Given the description of an element on the screen output the (x, y) to click on. 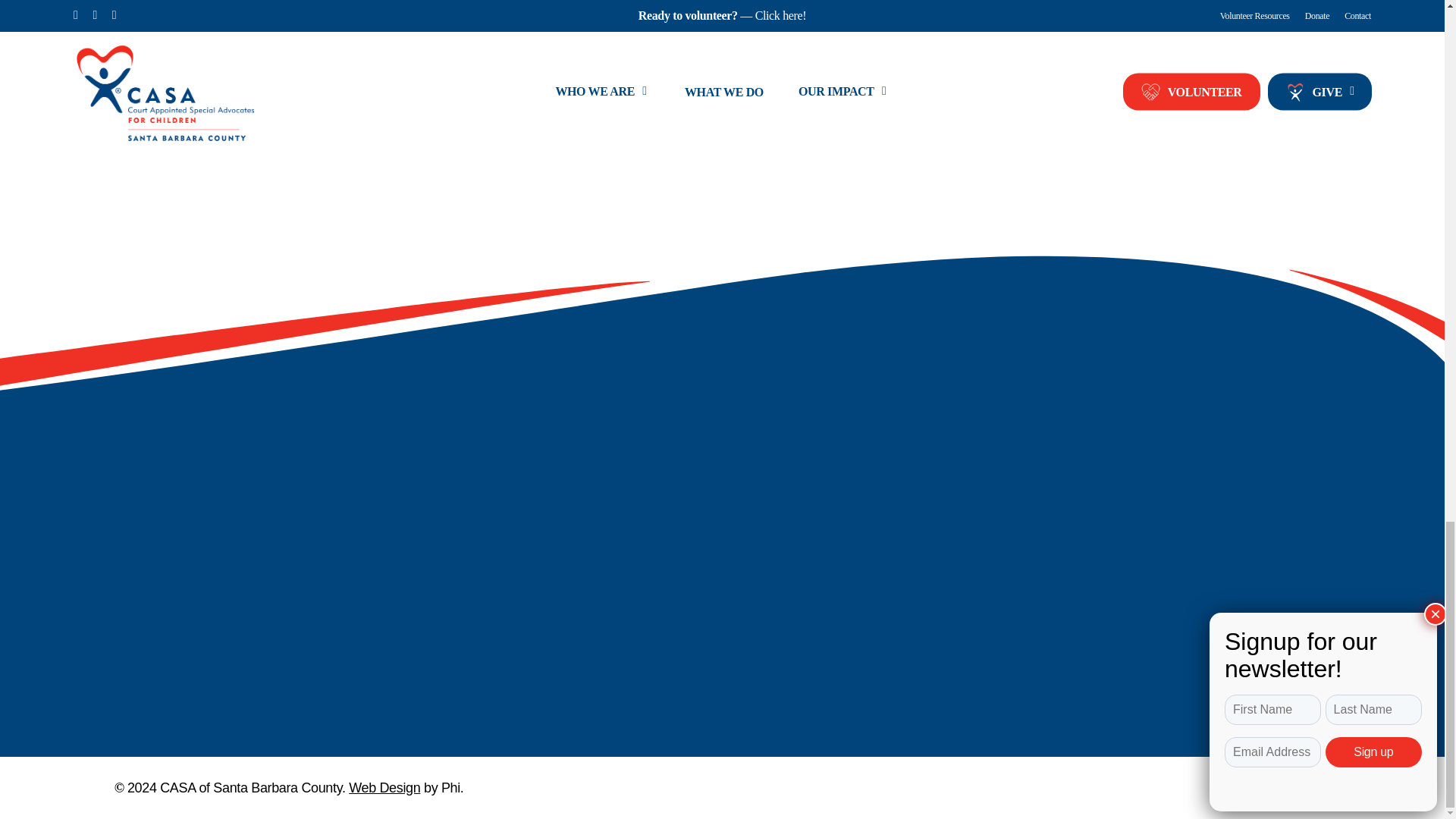
Sign up (521, 578)
